Given the description of an element on the screen output the (x, y) to click on. 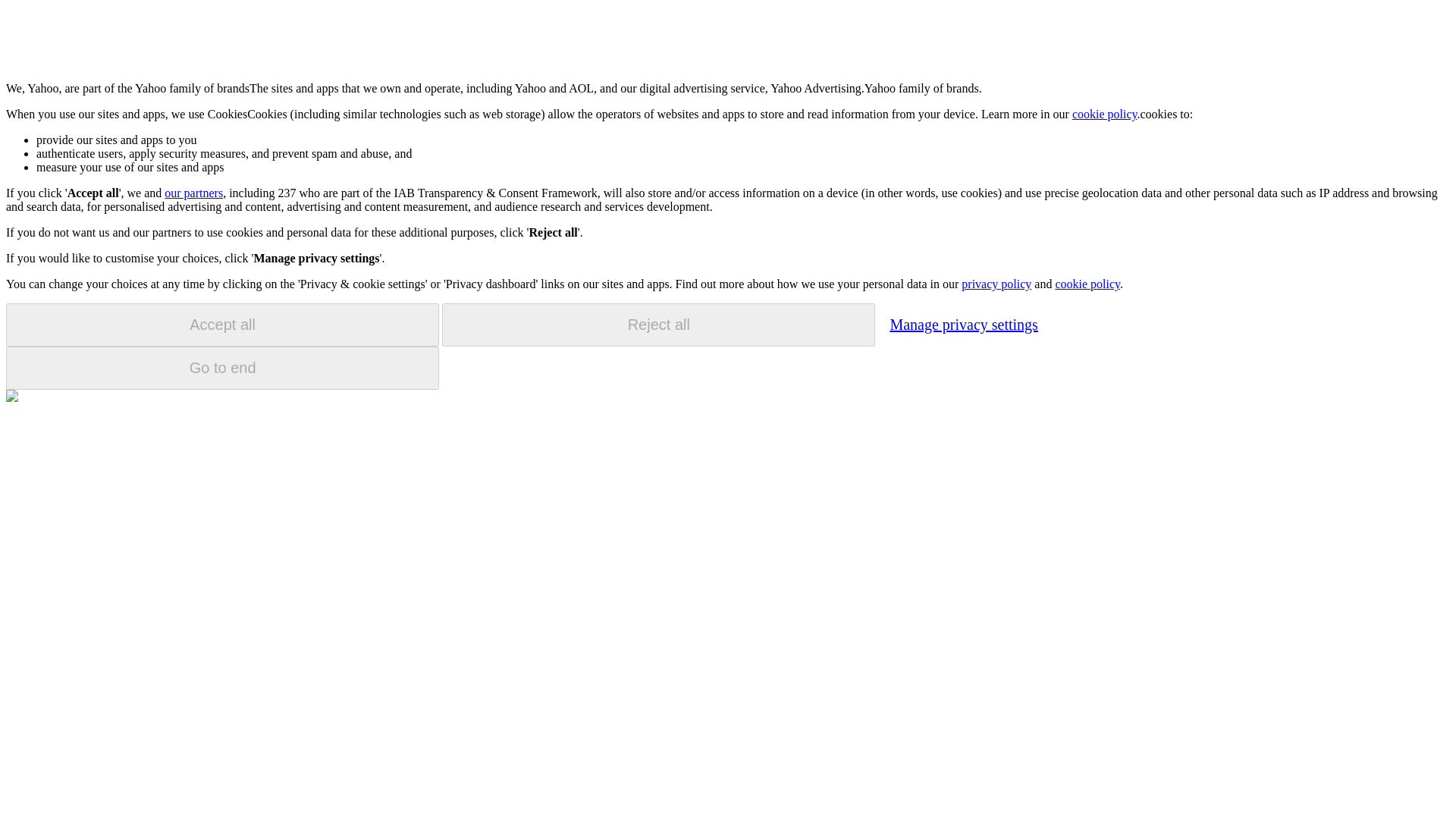
cookie policy (1104, 113)
Accept all (222, 324)
Reject all (658, 324)
cookie policy (1086, 283)
privacy policy (995, 283)
Go to end (222, 367)
Manage privacy settings (963, 323)
our partners (193, 192)
